Given the description of an element on the screen output the (x, y) to click on. 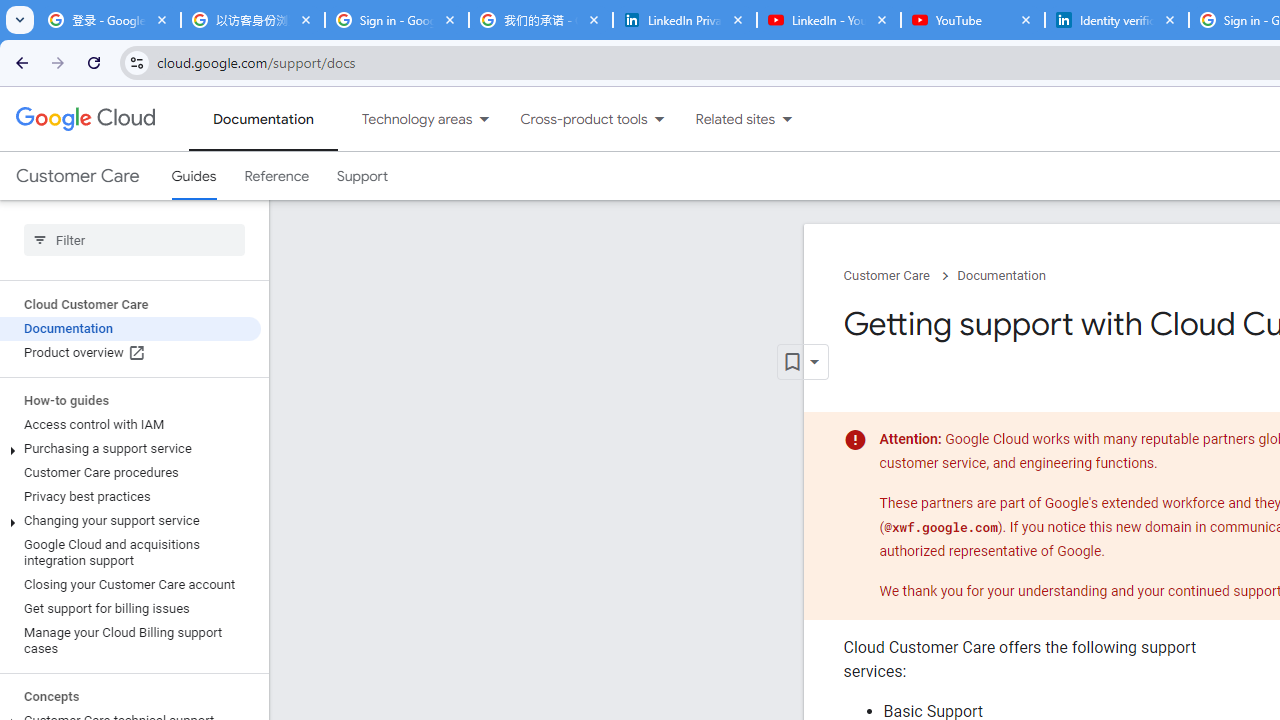
Closing your Customer Care account (130, 584)
Customer Care (77, 175)
LinkedIn Privacy Policy (684, 20)
Type to filter (134, 239)
Identity verification via Persona | LinkedIn Help (1116, 20)
Sign in - Google Accounts (396, 20)
Product overview (130, 353)
LinkedIn - YouTube (828, 20)
Customer Care chevron_right (900, 276)
